Given the description of an element on the screen output the (x, y) to click on. 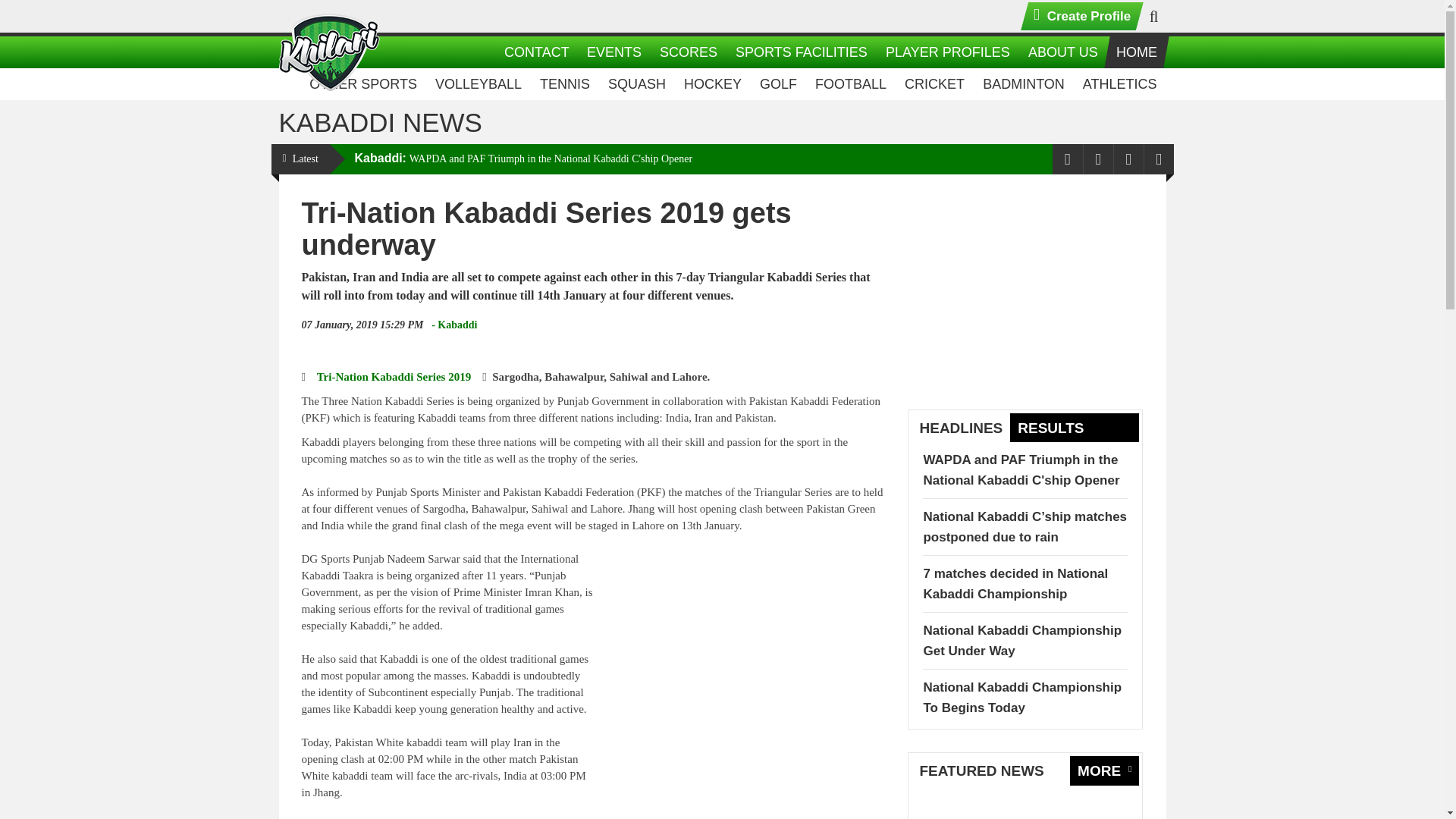
HOME (1133, 51)
Advertisement (740, 649)
CONTACT (533, 51)
SPORTS FACILITIES (799, 51)
Advertisement (1024, 291)
EVENTS (611, 51)
PLAYER PROFILES (944, 51)
Create Profile (1077, 16)
SCORES (685, 51)
ABOUT US (1059, 51)
